Given the description of an element on the screen output the (x, y) to click on. 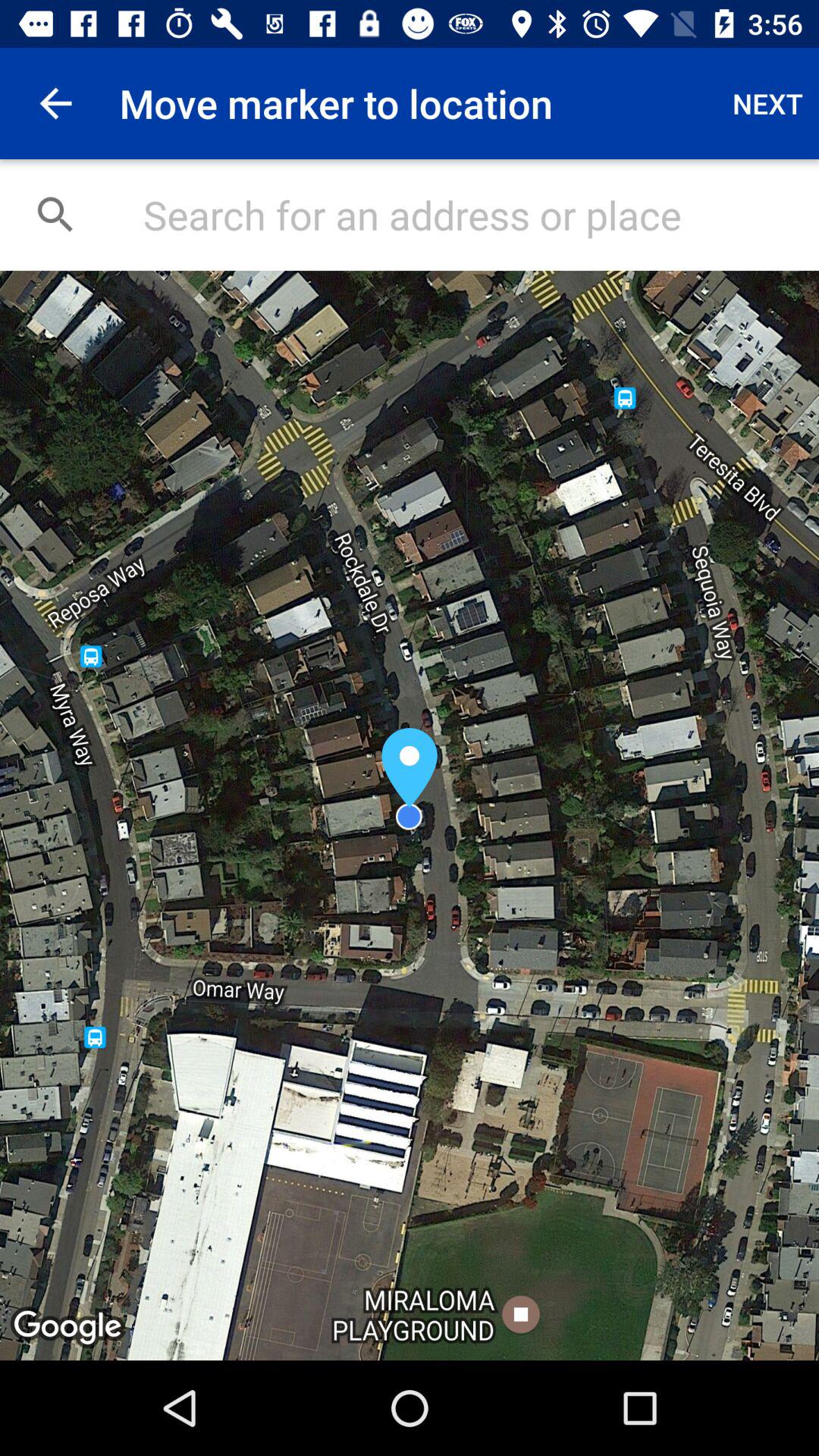
search (465, 214)
